Given the description of an element on the screen output the (x, y) to click on. 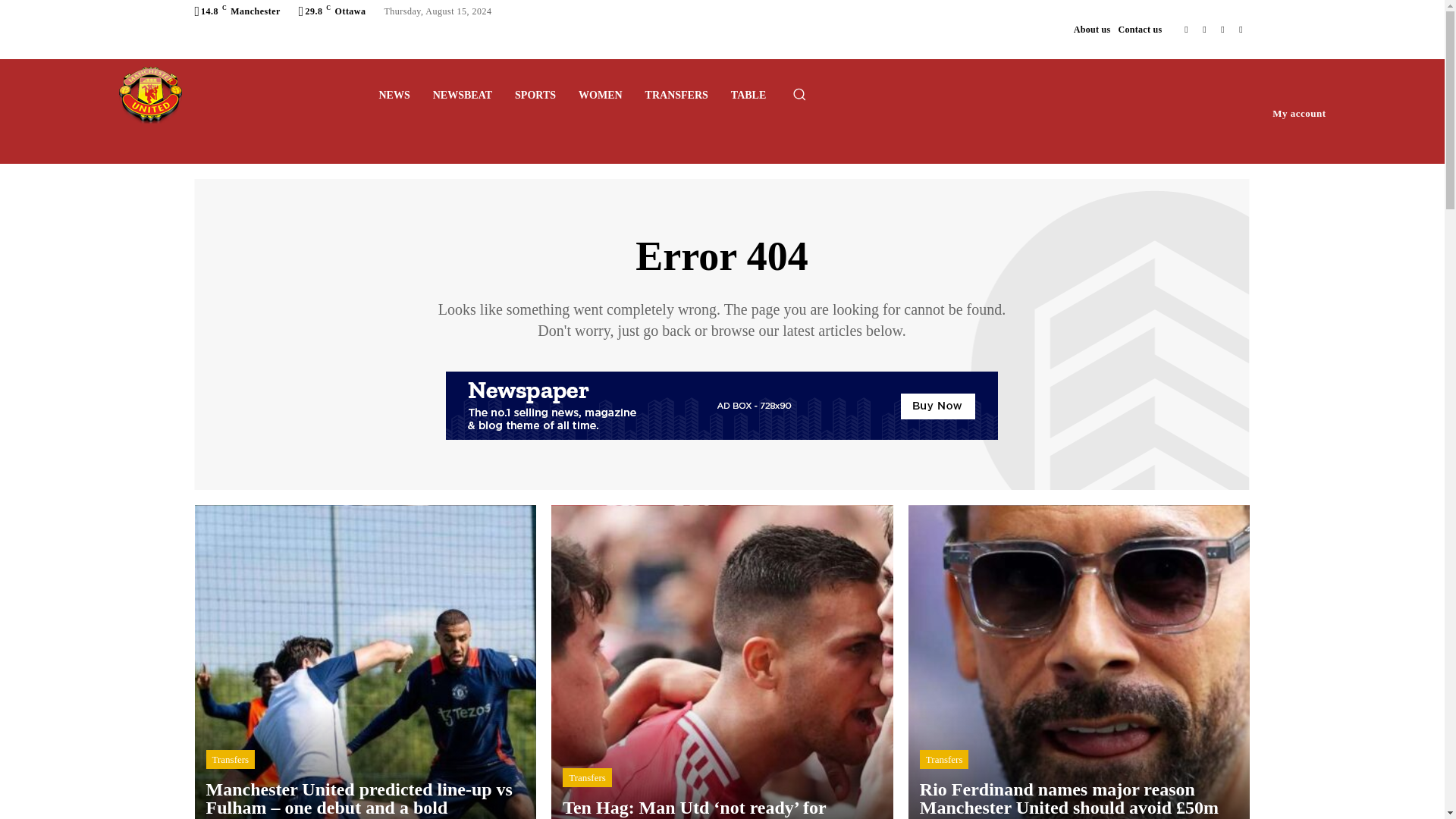
WOMEN (600, 94)
TABLE (748, 94)
Twitter (1221, 29)
Contact us (1139, 29)
SPORTS (535, 94)
Youtube (1240, 29)
Facebook (1185, 29)
NEWSBEAT (462, 94)
Instagram (1203, 29)
About us (1092, 29)
